Given the description of an element on the screen output the (x, y) to click on. 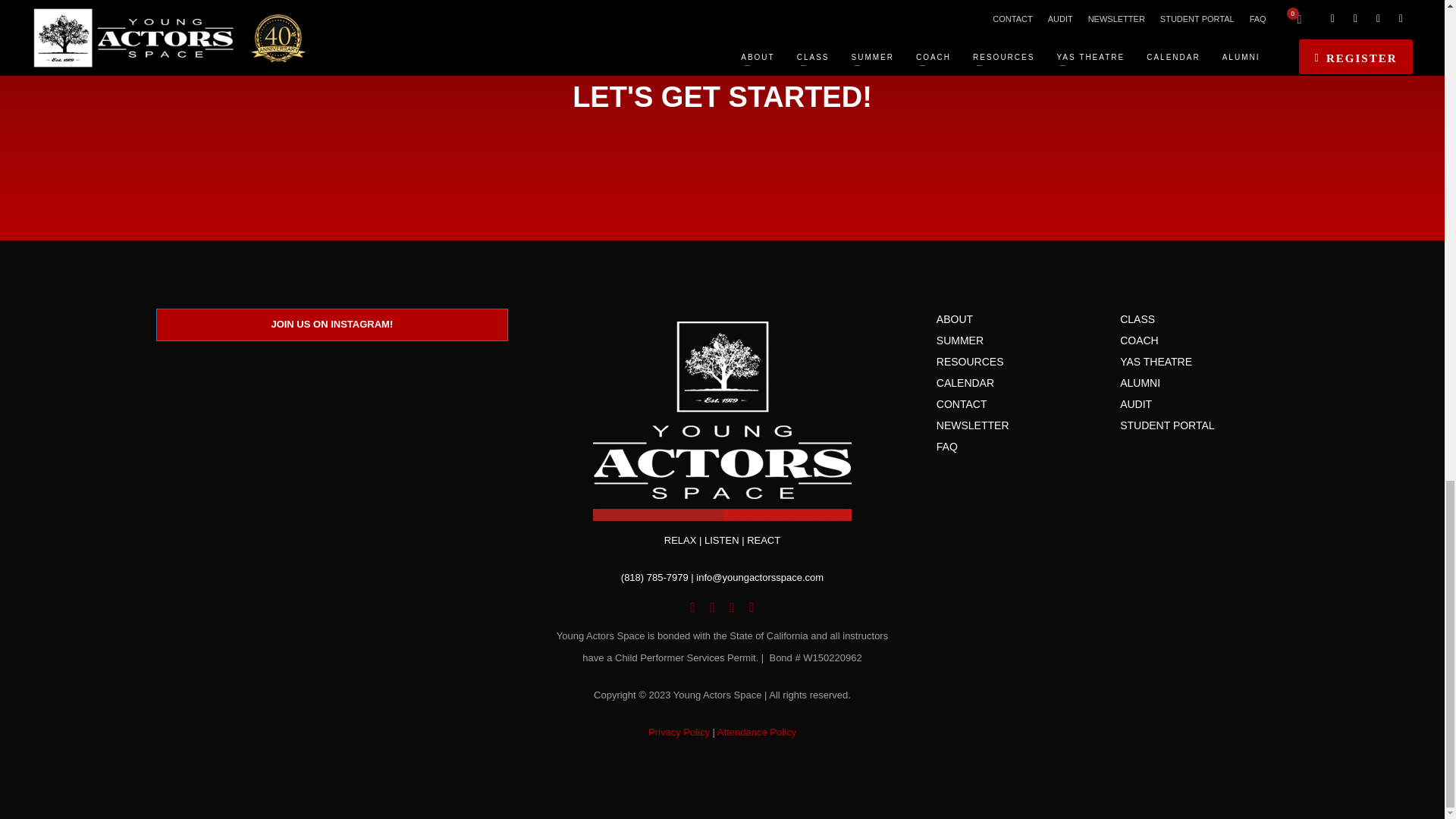
JOIN US ON INSTAGRAM! (331, 324)
